Given the description of an element on the screen output the (x, y) to click on. 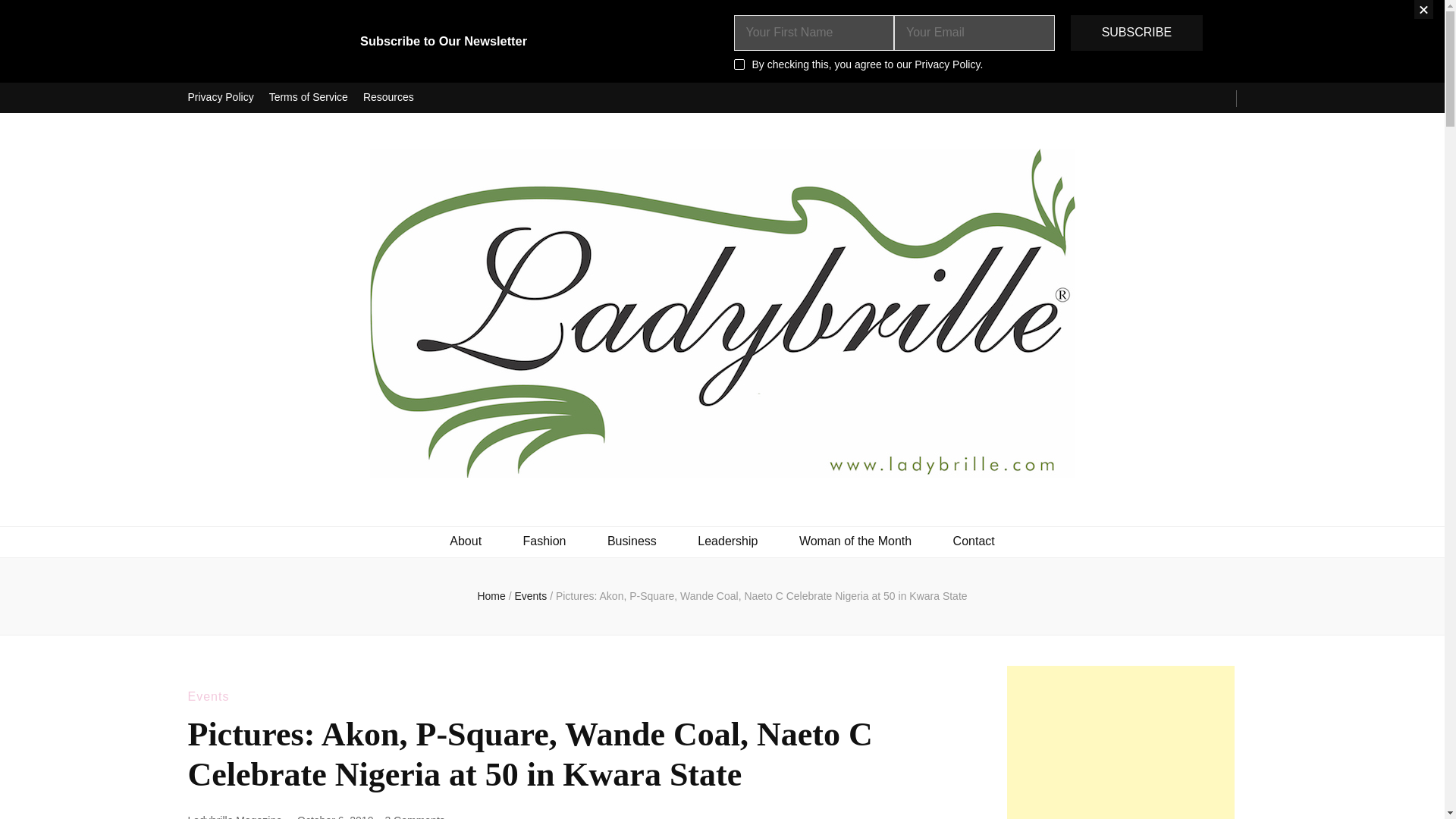
Events (208, 696)
Resources (387, 97)
Subscribe (1136, 32)
Woman of the Month (855, 541)
Terms of Service (308, 97)
Ladybrille Magazine (234, 816)
Privacy Policy (220, 97)
Contact (973, 541)
